Given the description of an element on the screen output the (x, y) to click on. 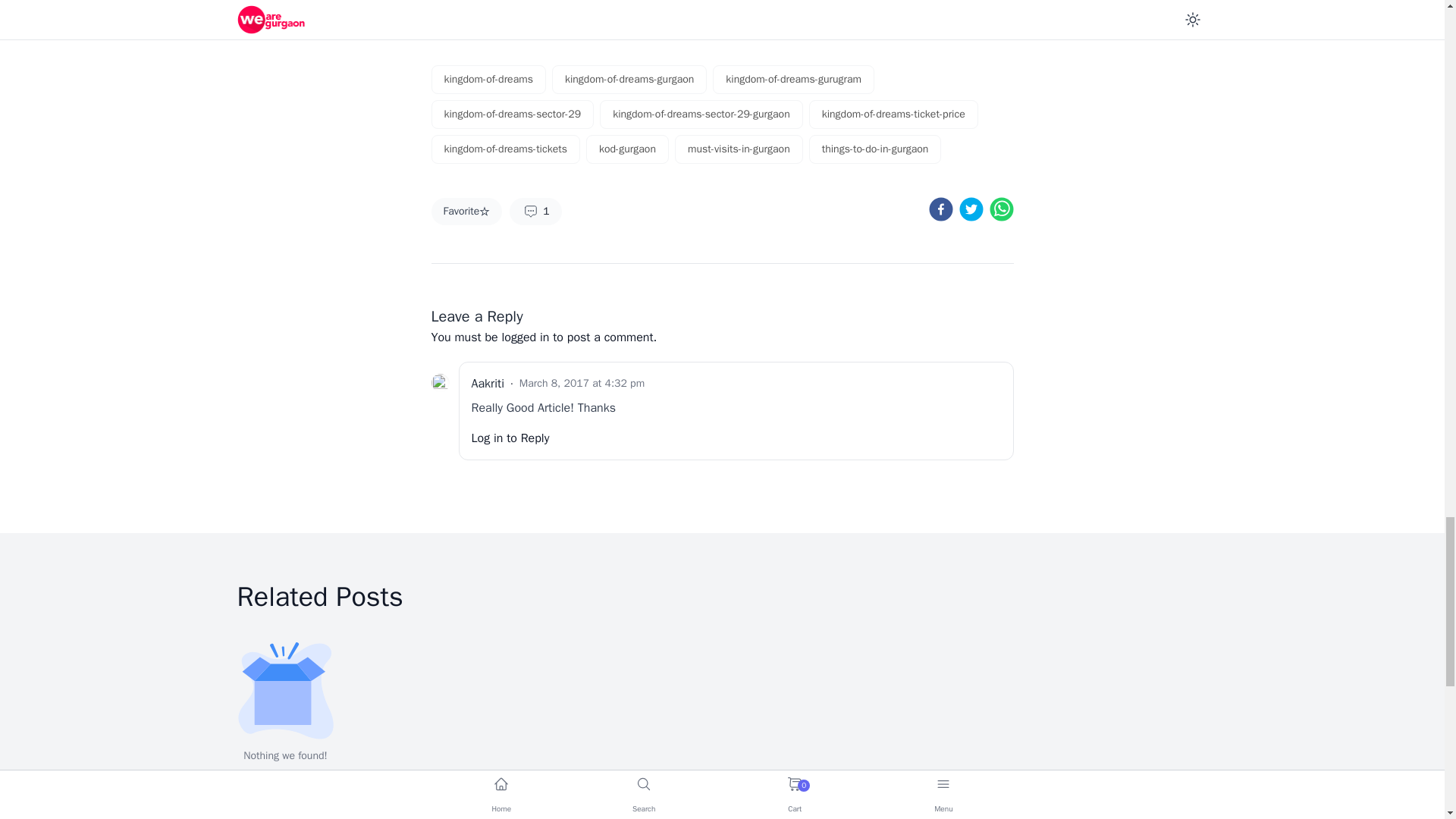
kingdom-of-dreams-sector-29 (512, 113)
kingdom-of-dreams-gurgaon (628, 79)
Comments (534, 211)
kingdom-of-dreams-gurugram (794, 79)
kingdom-of-dreams (487, 79)
